Given the description of an element on the screen output the (x, y) to click on. 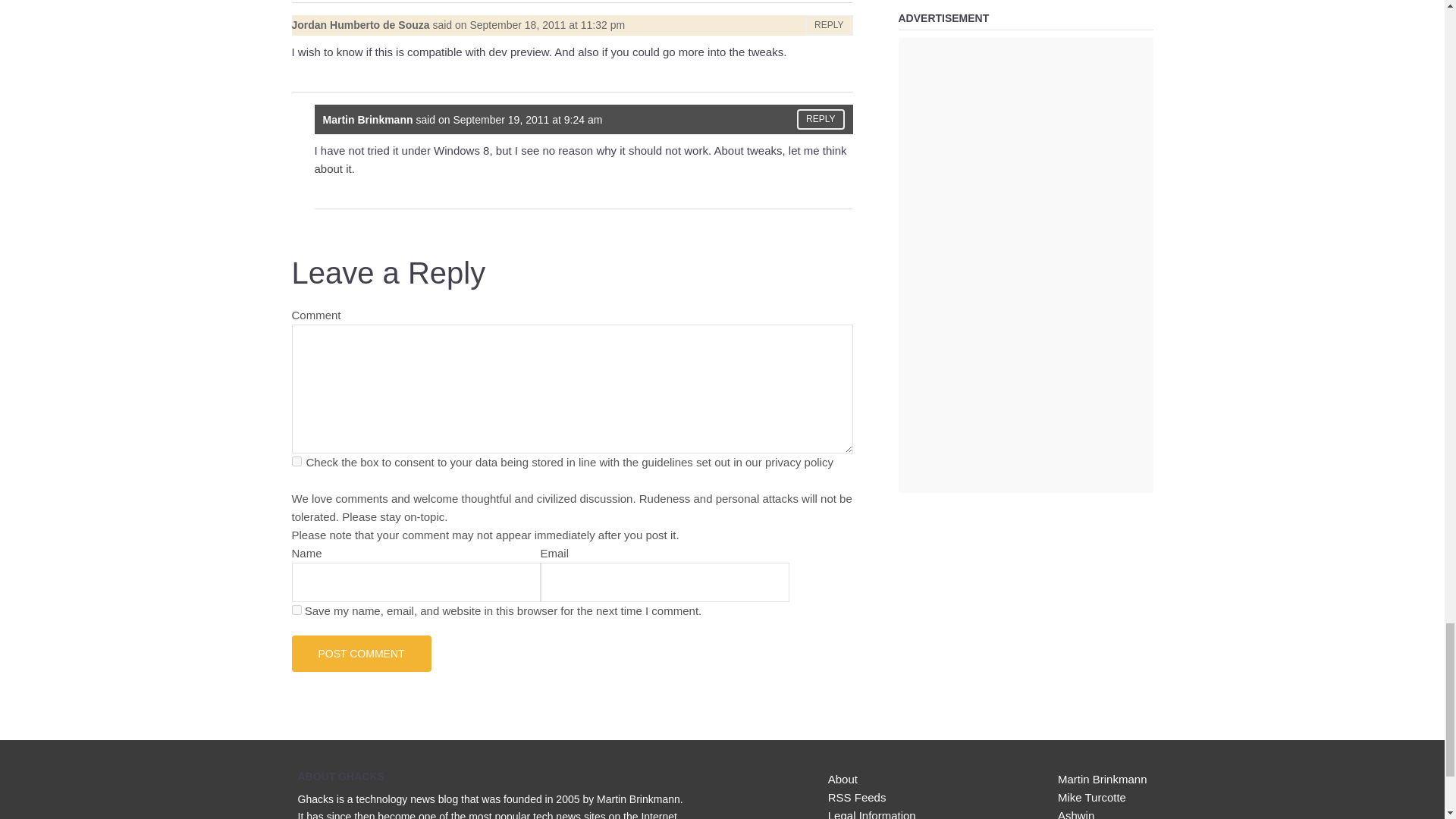
Post Comment (360, 653)
privacy-key (296, 461)
yes (296, 610)
